Given the description of an element on the screen output the (x, y) to click on. 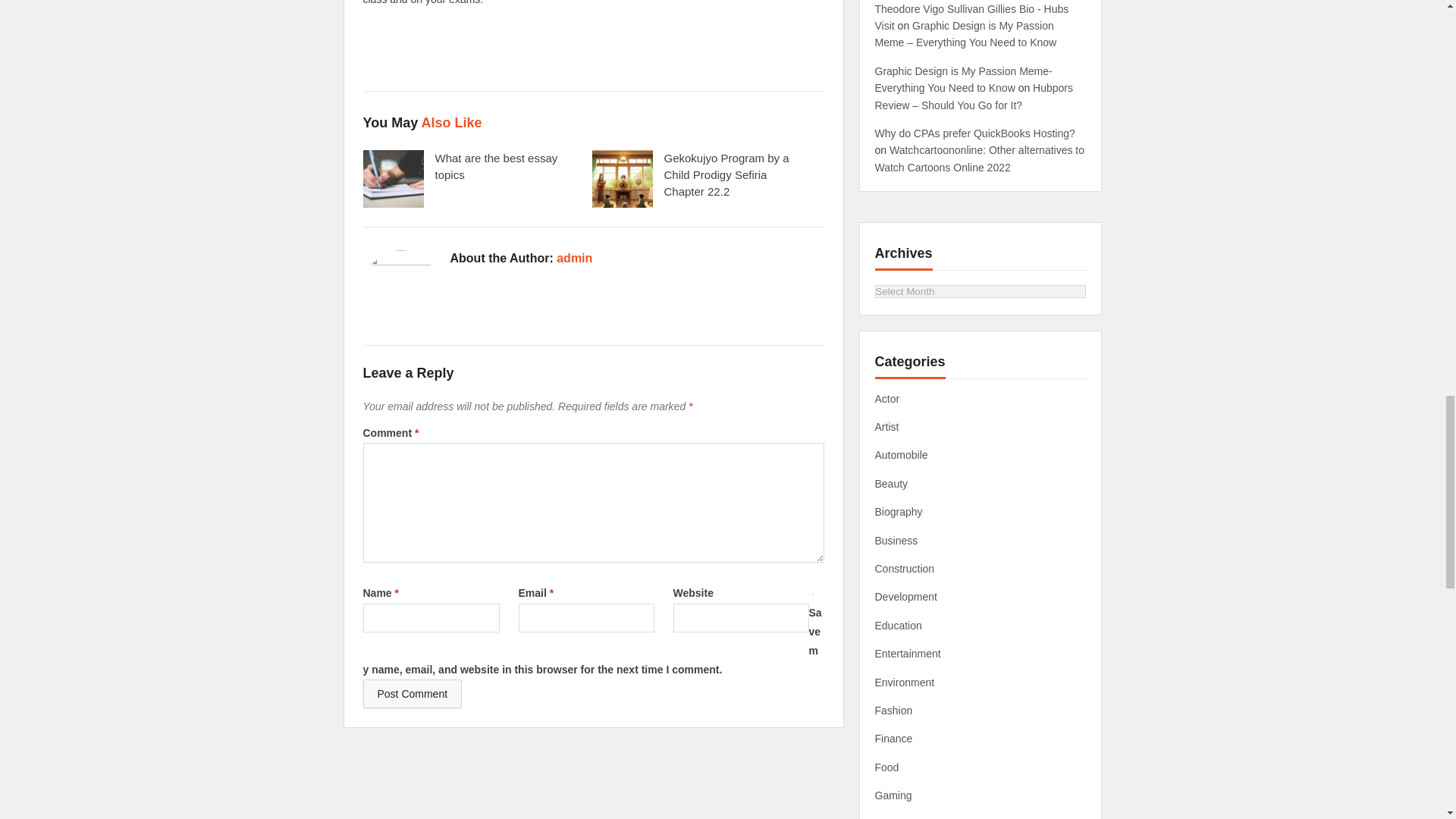
Gekokujyo Program by a Child Prodigy Sefiria Chapter 22.2 (726, 174)
admin (574, 257)
Post Comment (411, 693)
Post Comment (411, 693)
What are the best essay topics (496, 165)
